Given the description of an element on the screen output the (x, y) to click on. 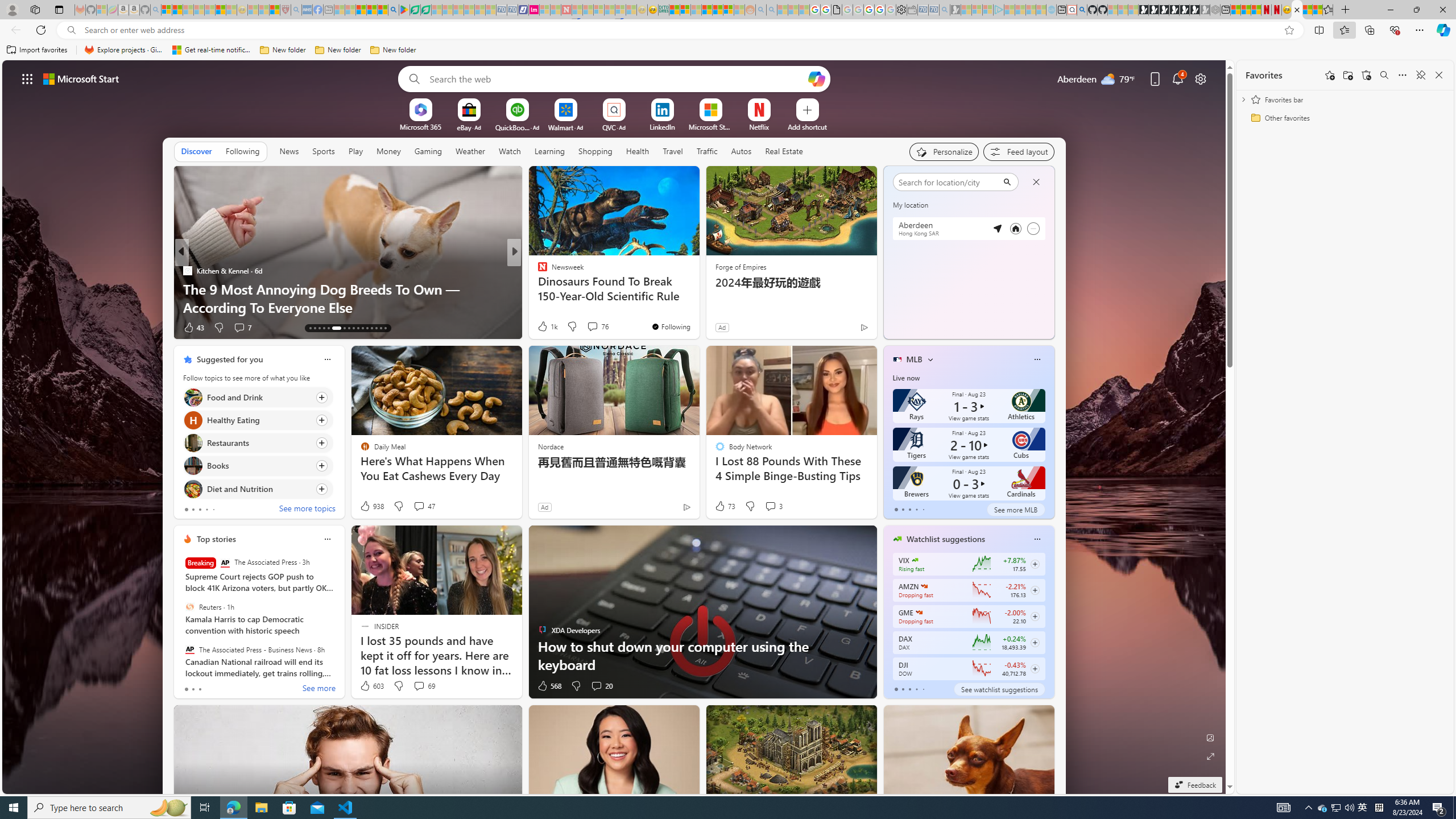
More interests (930, 359)
UV will be very high starting at 12 PM (1040, 208)
My location (934, 179)
LinkedIn (662, 126)
View comments 76 Comment (592, 326)
View comments 3 Comment (773, 505)
